Given the description of an element on the screen output the (x, y) to click on. 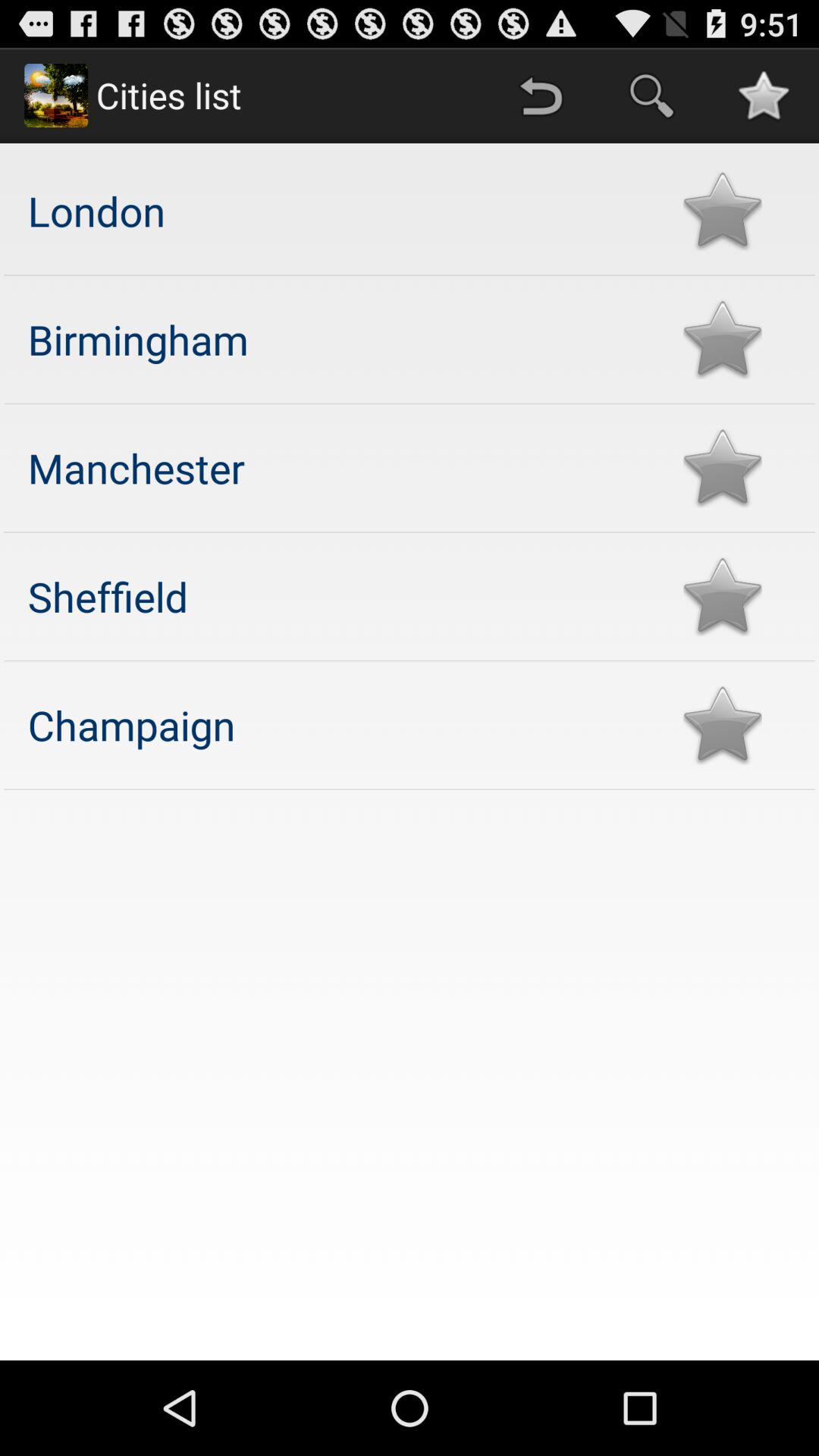
turn on the manchester icon (340, 467)
